Given the description of an element on the screen output the (x, y) to click on. 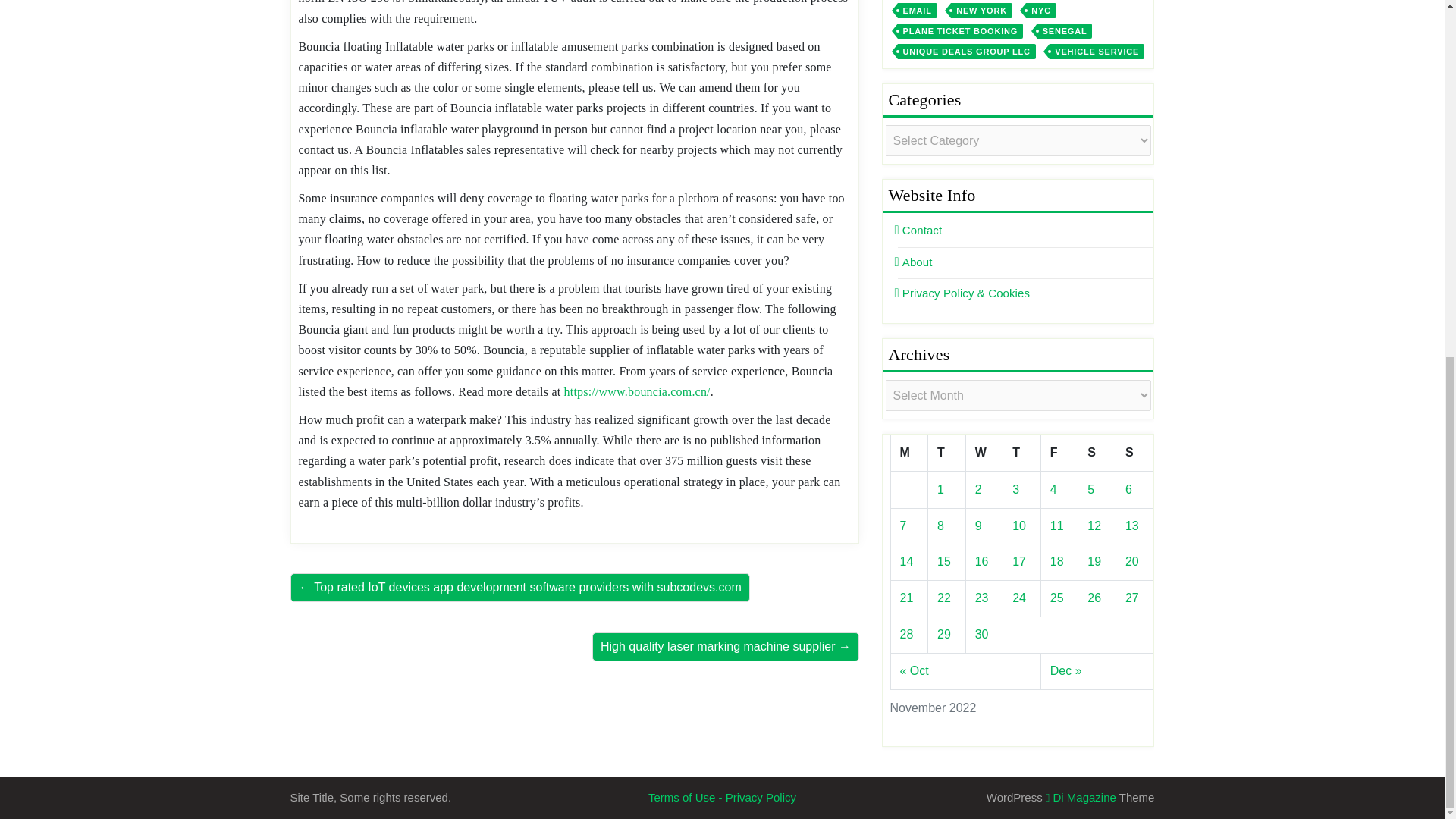
Saturday (1097, 452)
Wednesday (984, 452)
Tuesday (947, 452)
Sunday (1134, 452)
NYC (1041, 10)
Friday (1059, 452)
NEW YORK (980, 10)
EMAIL (917, 10)
Monday (908, 452)
Thursday (1022, 452)
